Given the description of an element on the screen output the (x, y) to click on. 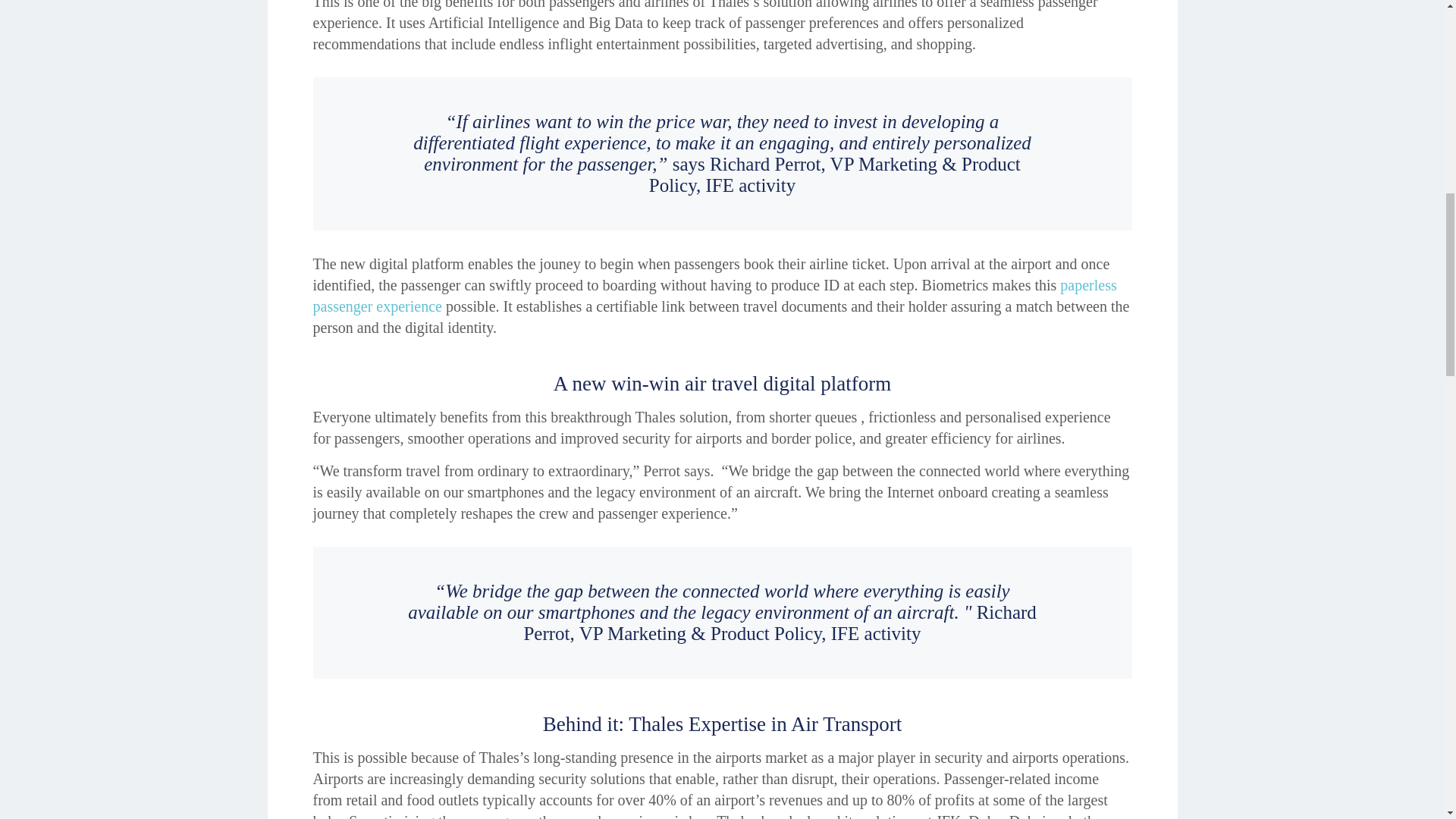
paperless passenger experience (714, 295)
